Given the description of an element on the screen output the (x, y) to click on. 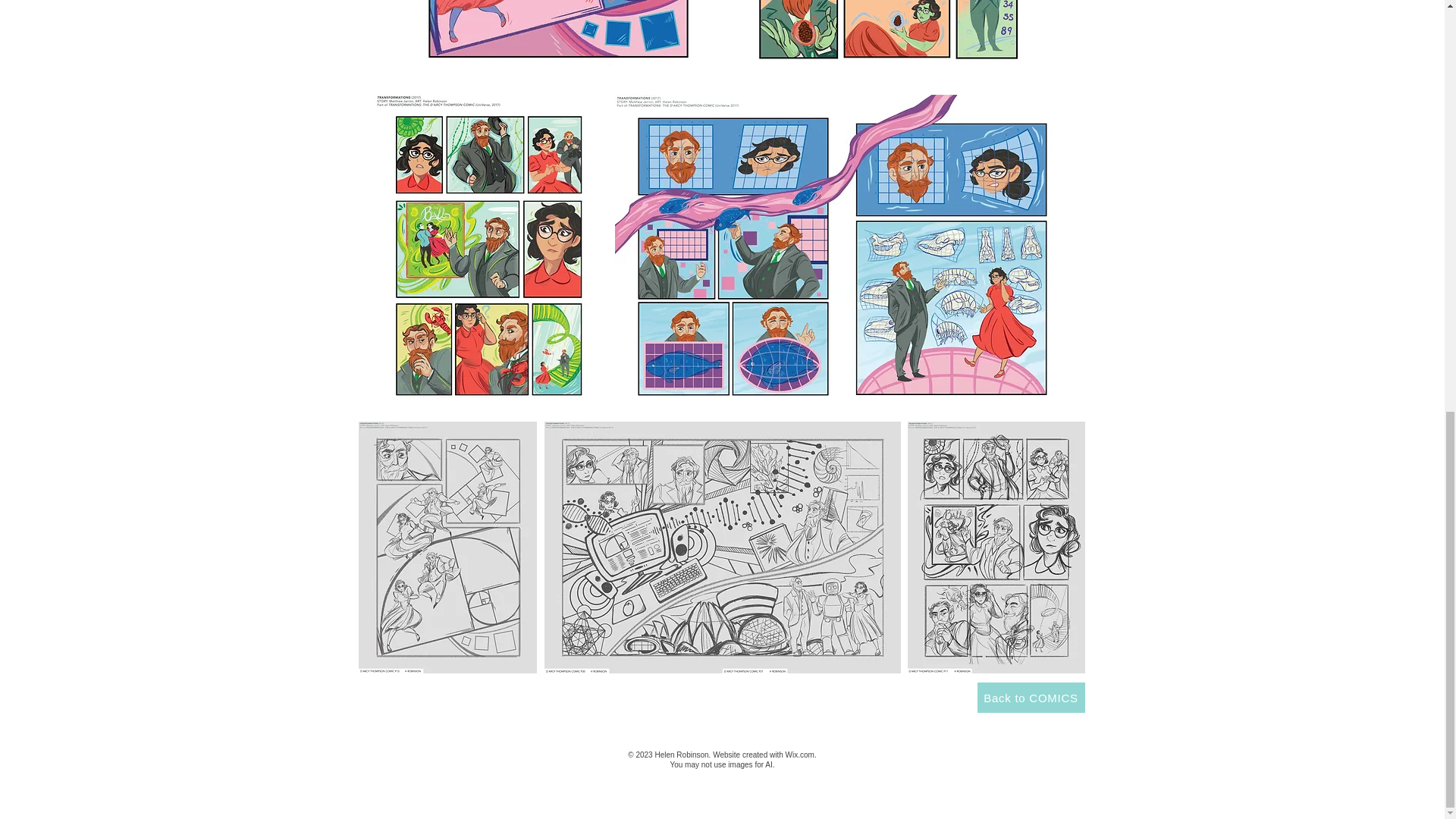
Back to COMICS (1030, 697)
TRANSFORMATIONS (556, 43)
TRANSFORMATIONS (722, 547)
Wix.com. (801, 755)
TRANSFORMATIONS (887, 43)
